Given the description of an element on the screen output the (x, y) to click on. 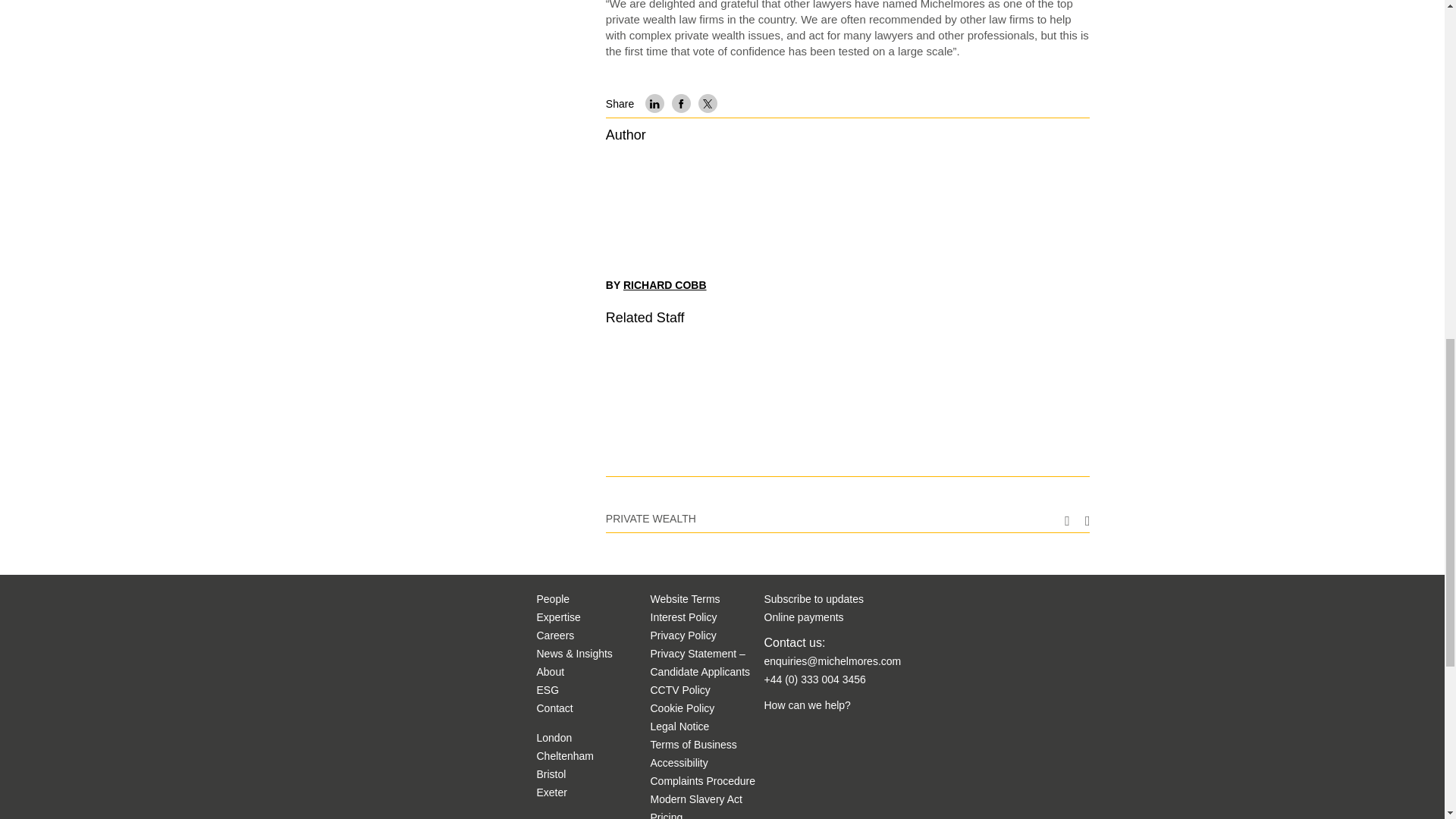
PRIVATE WEALTH (650, 518)
Website Terms (685, 598)
Careers (556, 635)
Contact (555, 707)
Exeter (552, 792)
London (554, 737)
Privacy Policy (683, 635)
People (553, 598)
Bristol (551, 774)
ESG (548, 689)
Cheltenham (565, 756)
About (550, 671)
Interest Policy (683, 616)
RICHARD COBB (664, 285)
Expertise (558, 616)
